Given the description of an element on the screen output the (x, y) to click on. 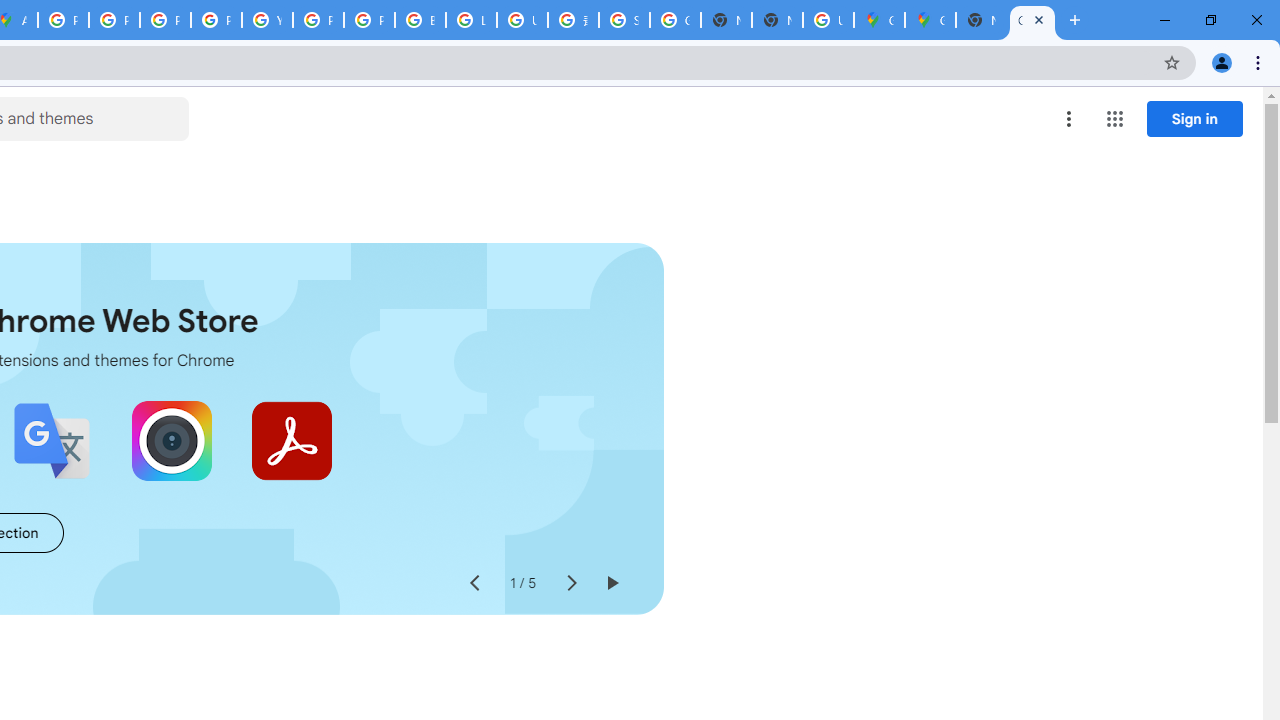
YouTube (267, 20)
